Given the description of an element on the screen output the (x, y) to click on. 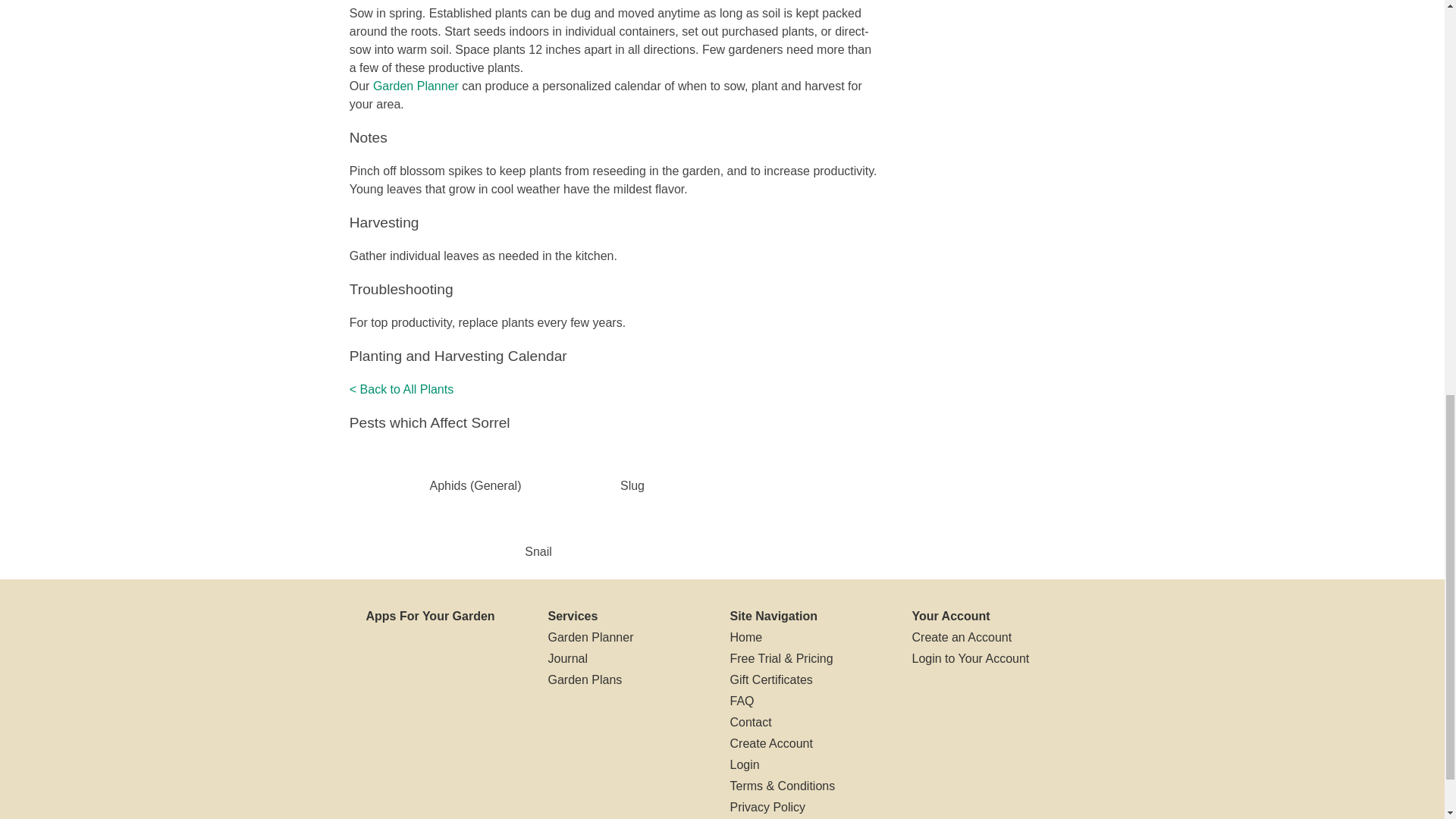
Journal (566, 658)
Garden Planner (590, 637)
Slug (632, 485)
Garden Plans (584, 680)
Snail (537, 551)
Garden Planner (415, 85)
